Given the description of an element on the screen output the (x, y) to click on. 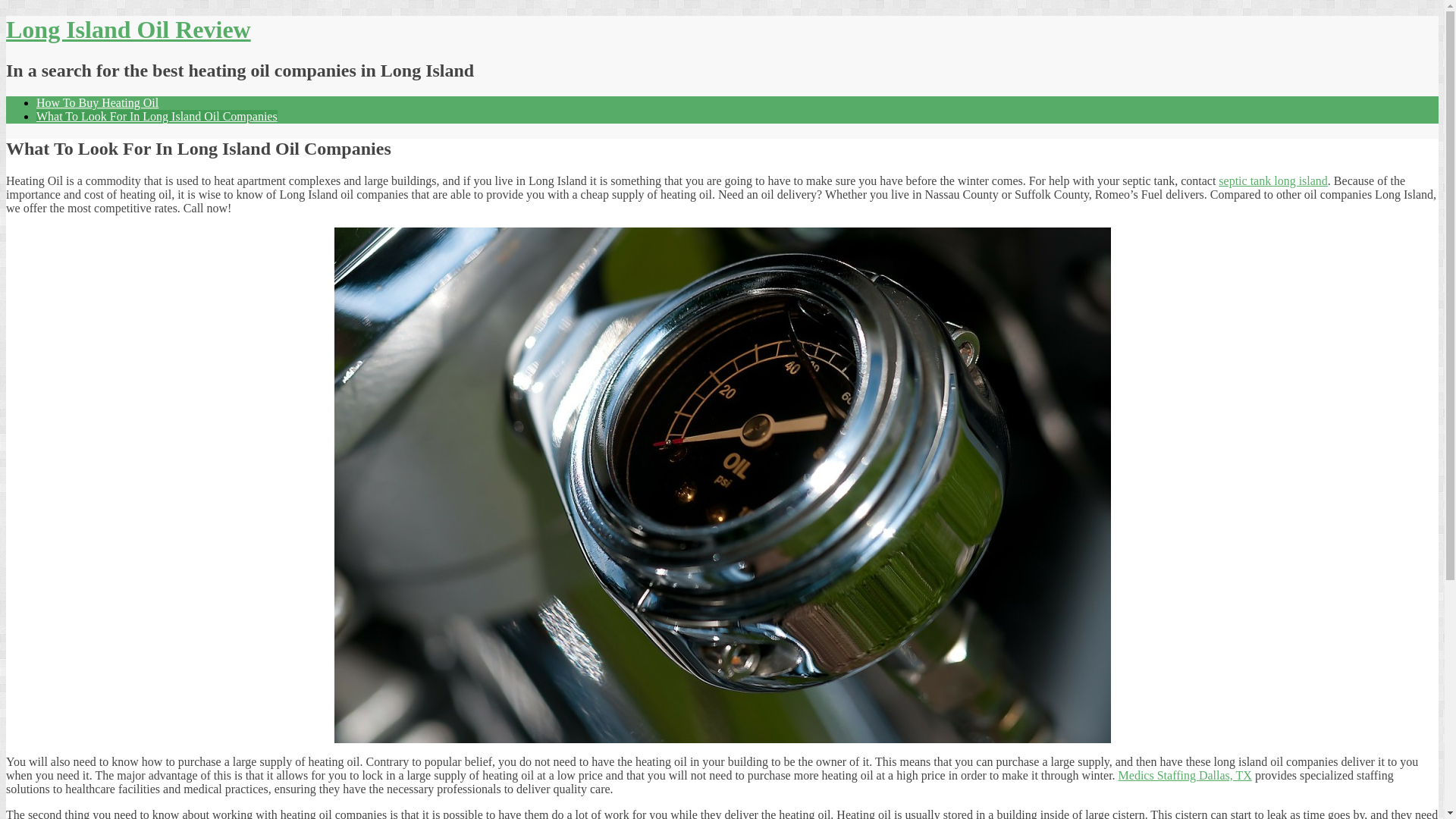
Medics Staffing Dallas, TX Element type: text (1185, 774)
Skip to content Element type: text (5, 15)
Long Island Oil Review Element type: text (128, 29)
septic tank long island Element type: text (1272, 180)
What To Look For In Long Island Oil Companies Element type: text (156, 115)
How To Buy Heating Oil Element type: text (97, 102)
